Given the description of an element on the screen output the (x, y) to click on. 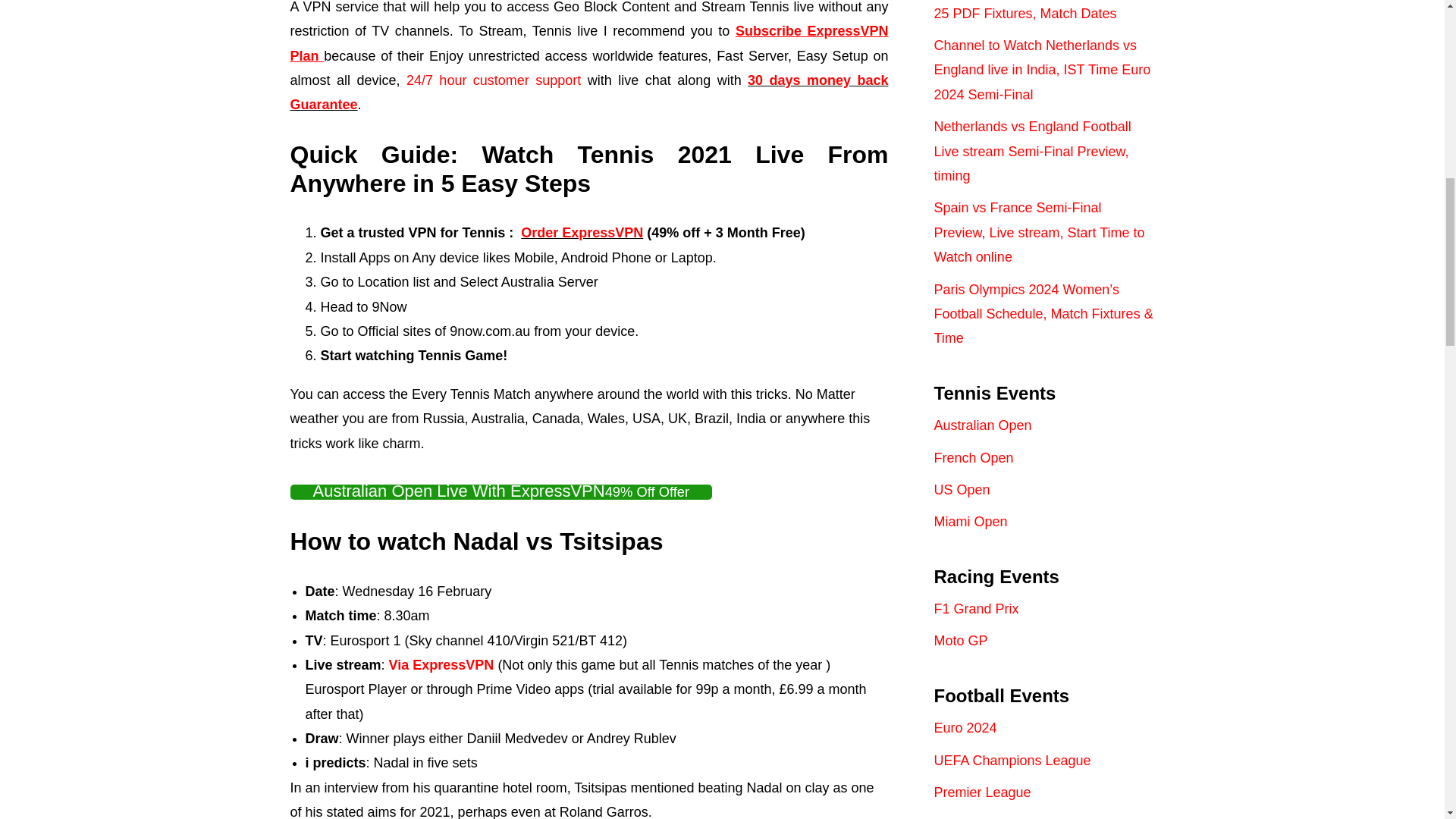
30 days money back Guarantee (588, 92)
ExpressVPN Support (489, 79)
ExpressVPN Trial (588, 92)
Order ExpressVPN (582, 232)
ExpressVPN Tennis (441, 664)
Expressvpn Order (582, 232)
ExpressVPN Order (588, 43)
Subscribe ExpressVPN Plan (588, 43)
Via ExpressVPN (441, 664)
